Given the description of an element on the screen output the (x, y) to click on. 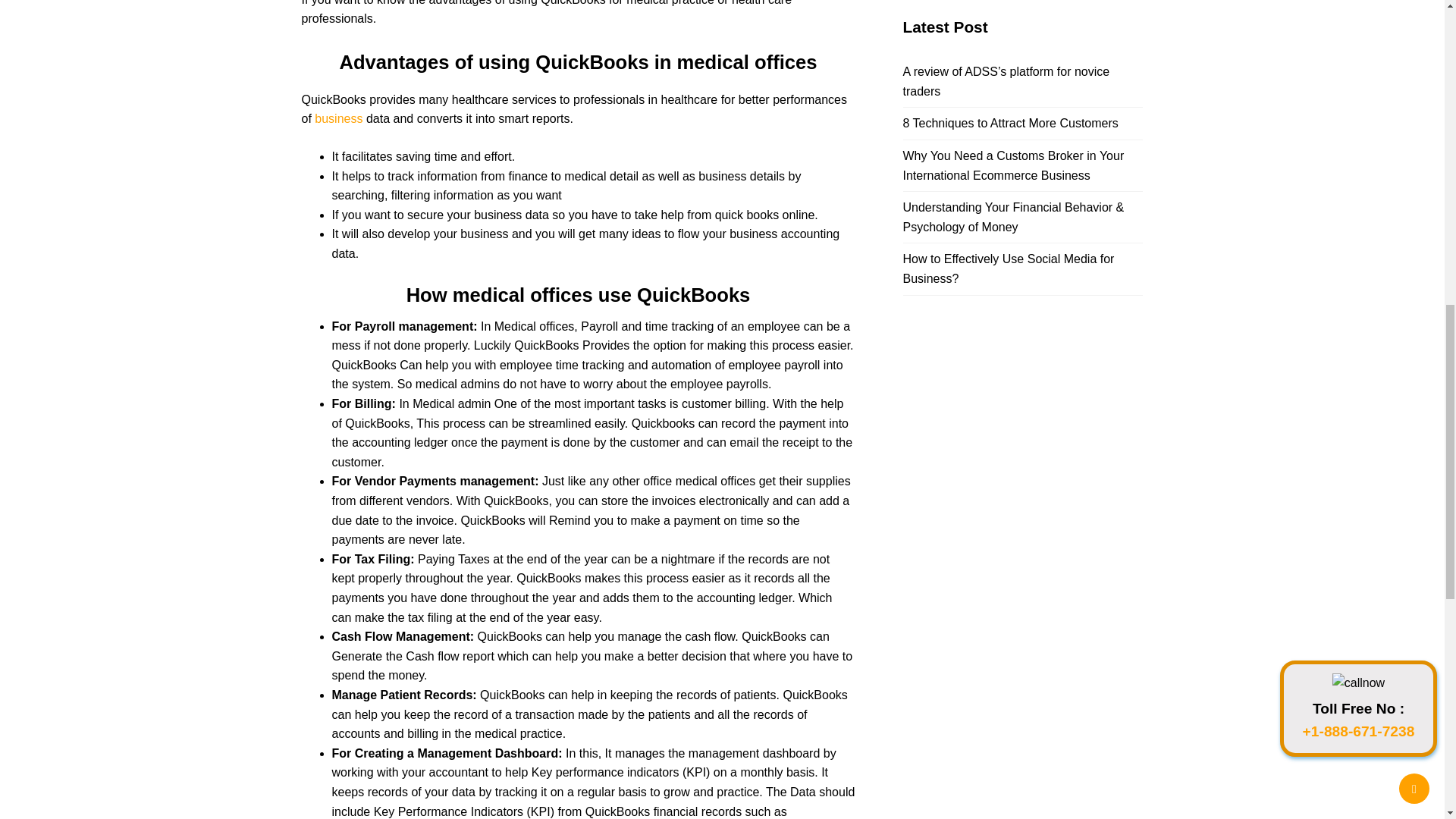
business (338, 118)
How to Effectively Use Social Media for Business? (1007, 268)
8 Techniques to Attract More Customers (1010, 123)
